Given the description of an element on the screen output the (x, y) to click on. 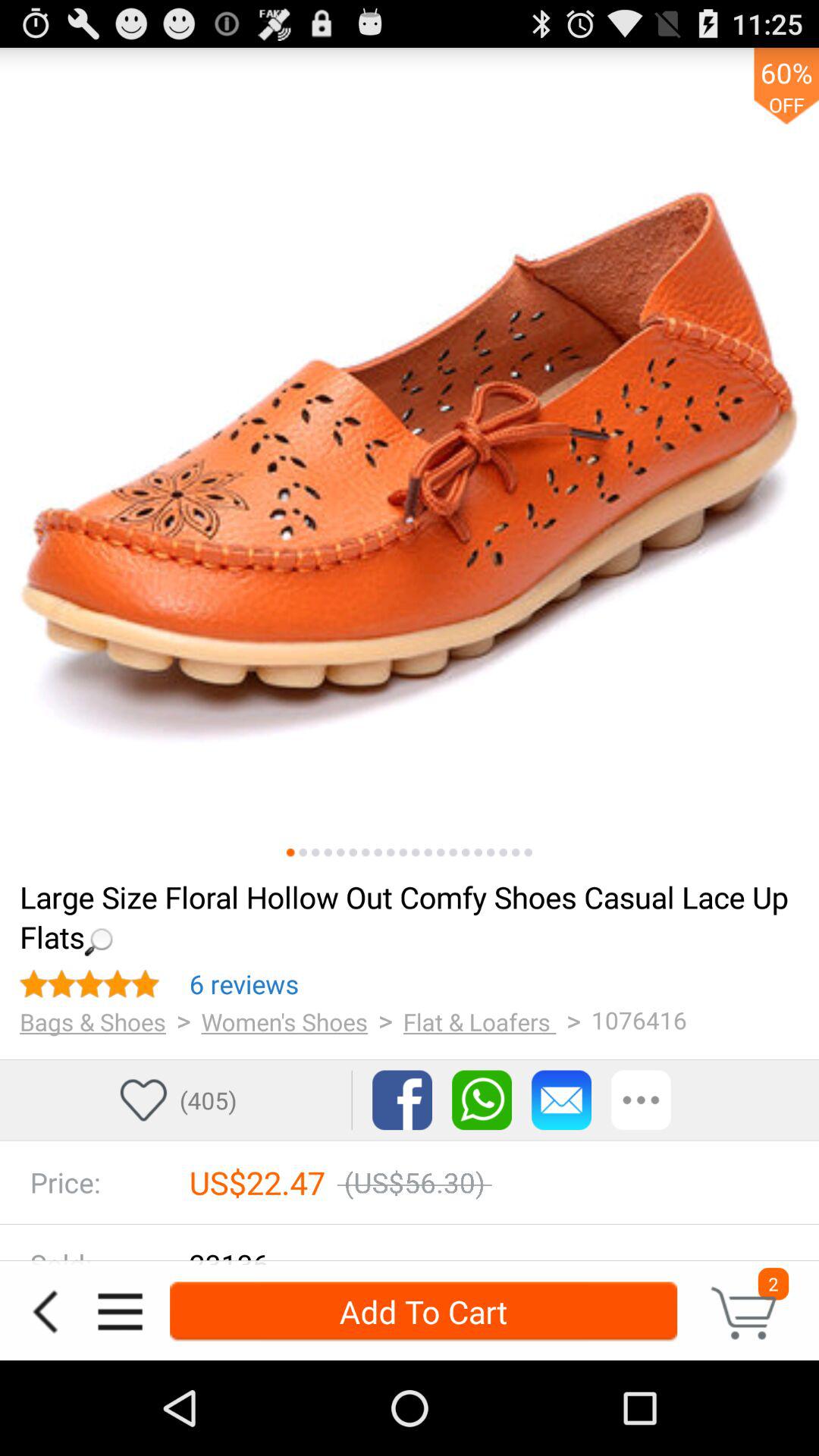
zoom in or out (303, 852)
